Given the description of an element on the screen output the (x, y) to click on. 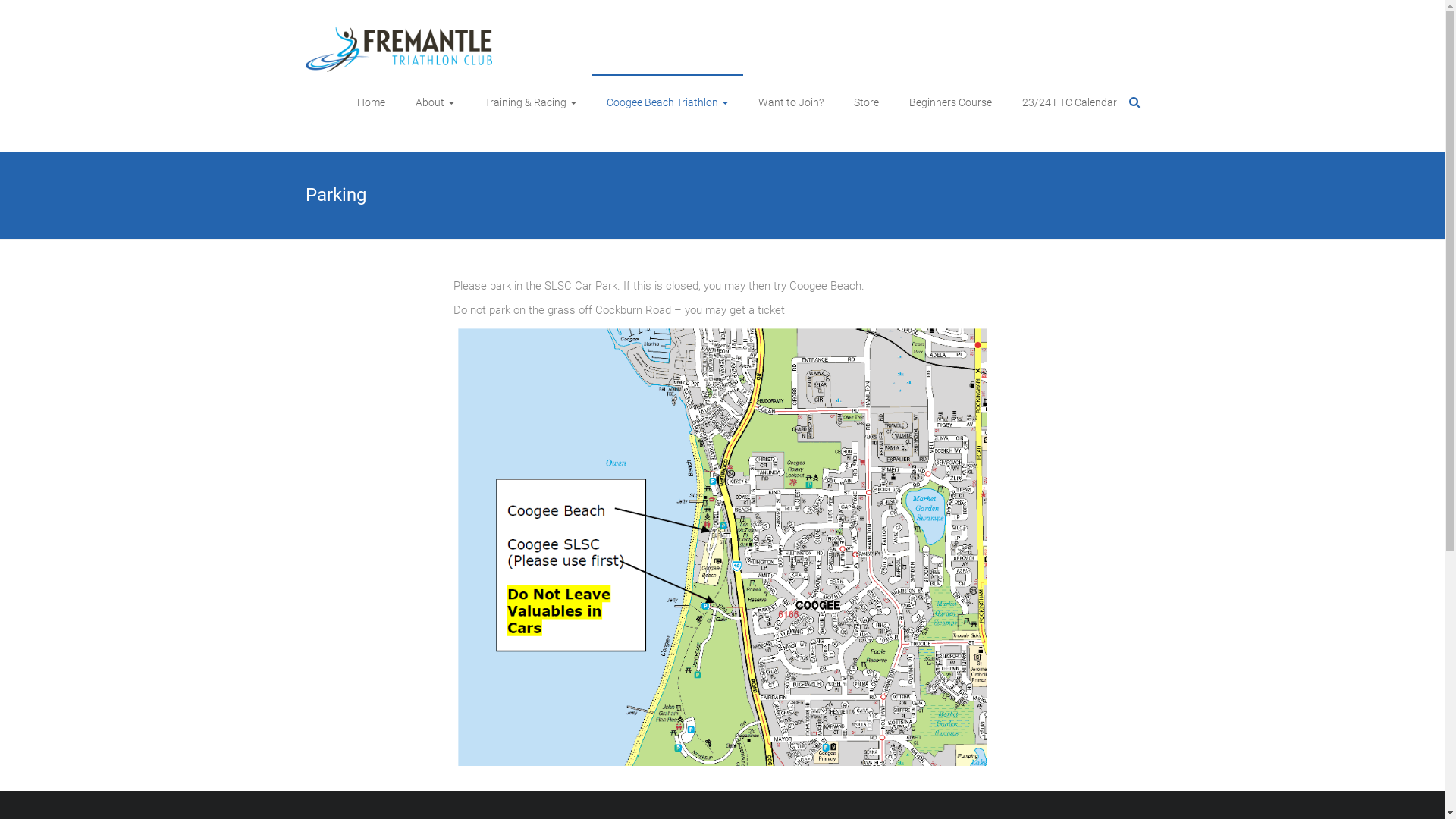
Home Element type: text (370, 101)
23/24 FTC Calendar Element type: text (1069, 101)
Training & Racing Element type: text (529, 101)
Coogee Beach Triathlon Element type: text (667, 101)
Want to Join? Element type: text (790, 101)
Store Element type: text (865, 101)
About Element type: text (434, 101)
Beginners Course Element type: text (949, 101)
